Given the description of an element on the screen output the (x, y) to click on. 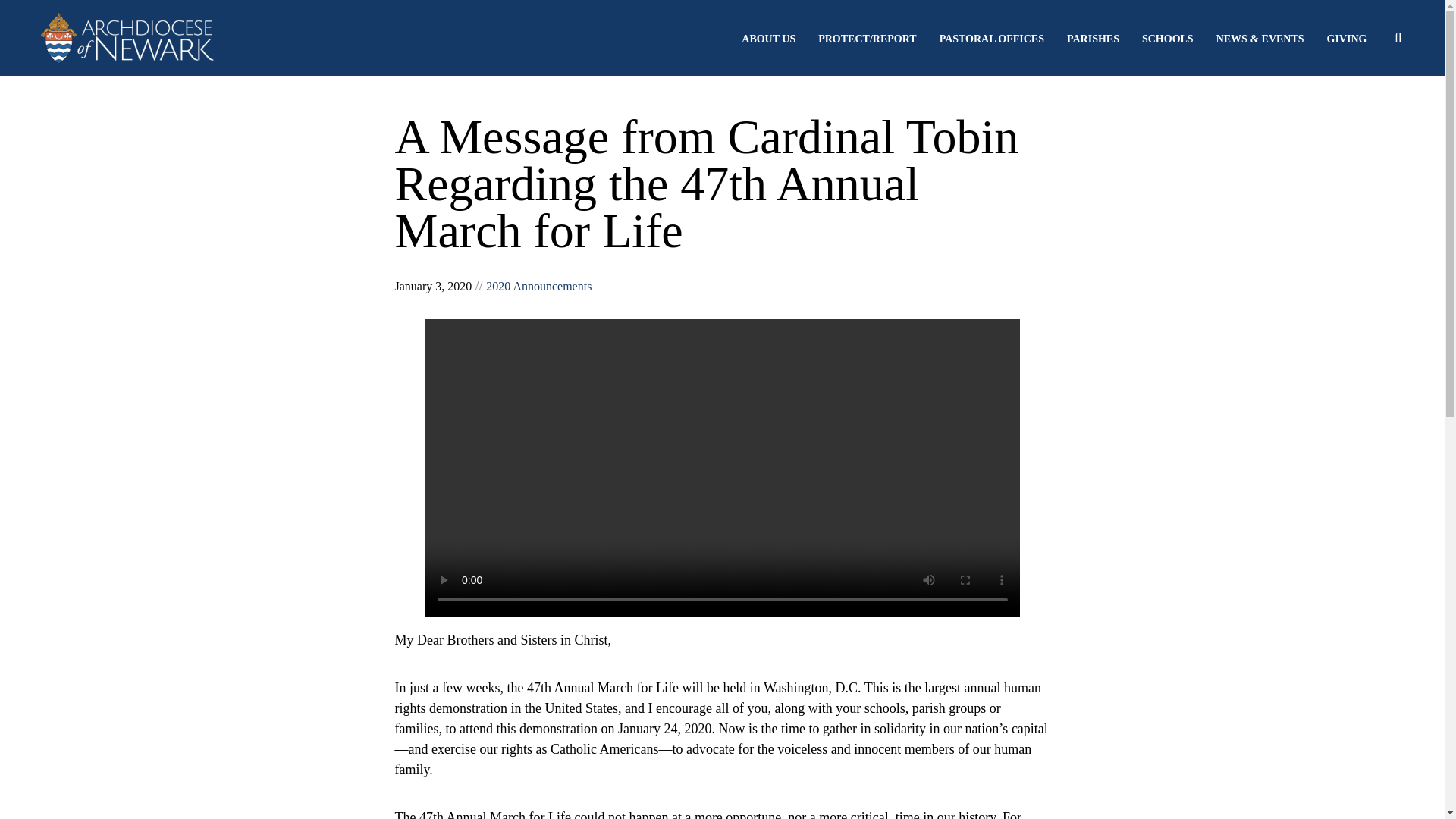
GIVING (1346, 39)
PARISHES (1093, 39)
PASTORAL OFFICES (991, 39)
ABOUT US (767, 39)
2020 Announcements (538, 286)
SCHOOLS (1167, 39)
